Given the description of an element on the screen output the (x, y) to click on. 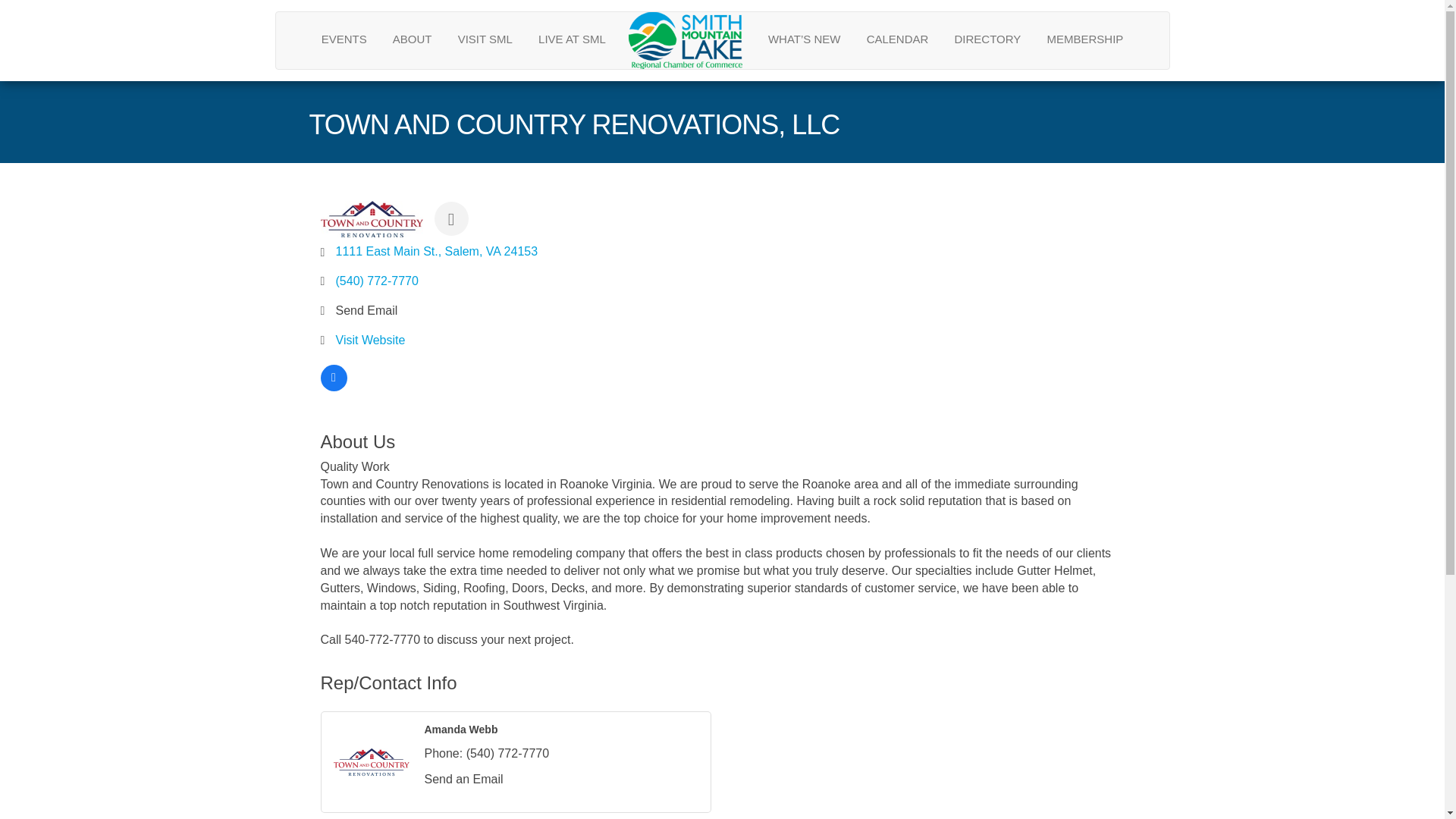
View on Facebook (333, 386)
Town and Country Renovations, LLC  (371, 219)
ABOUT (412, 38)
VISIT SML (485, 38)
EVENTS (344, 38)
